Given the description of an element on the screen output the (x, y) to click on. 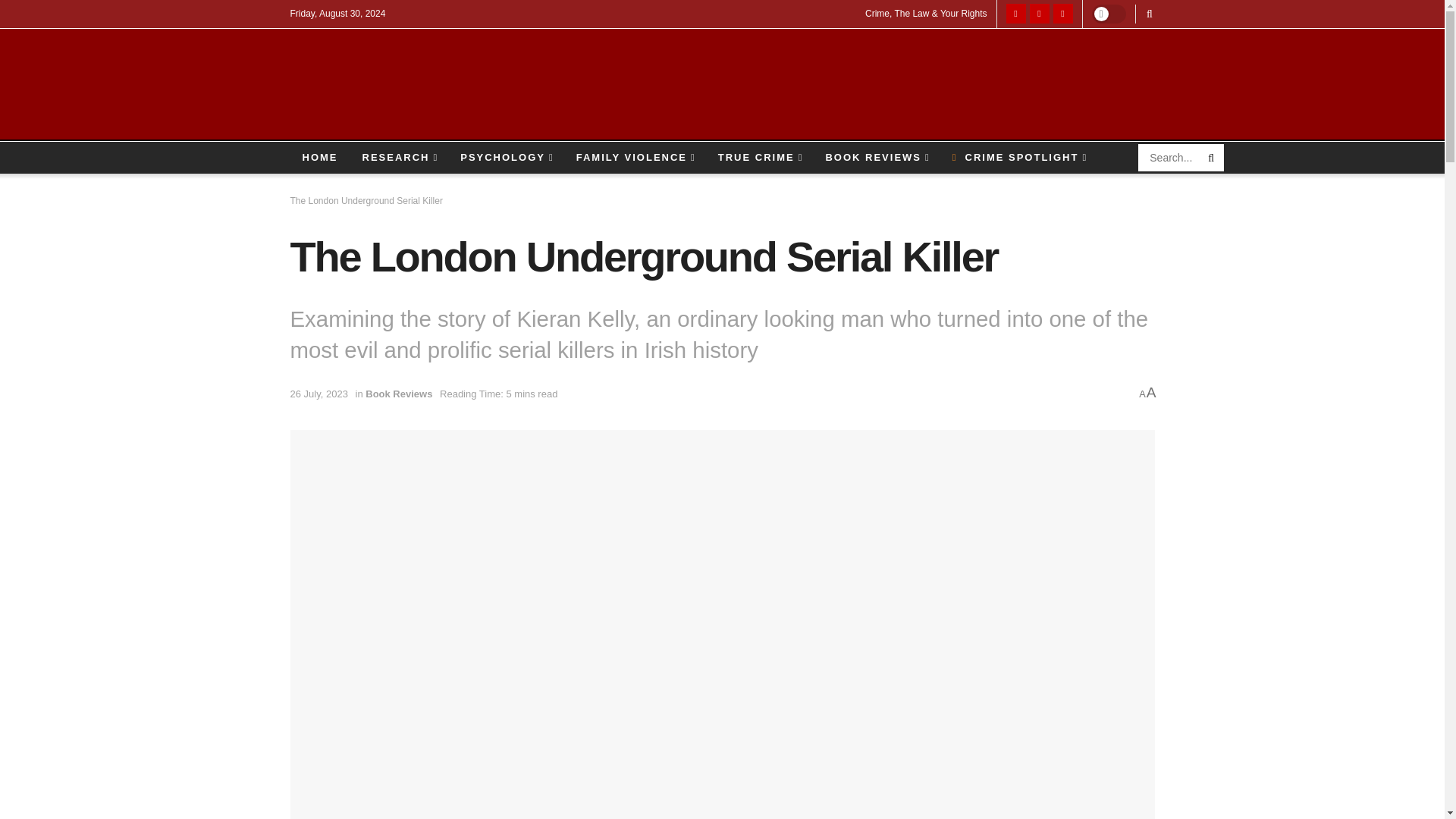
PSYCHOLOGY (506, 157)
HOME (319, 157)
RESEARCH (399, 157)
